Given the description of an element on the screen output the (x, y) to click on. 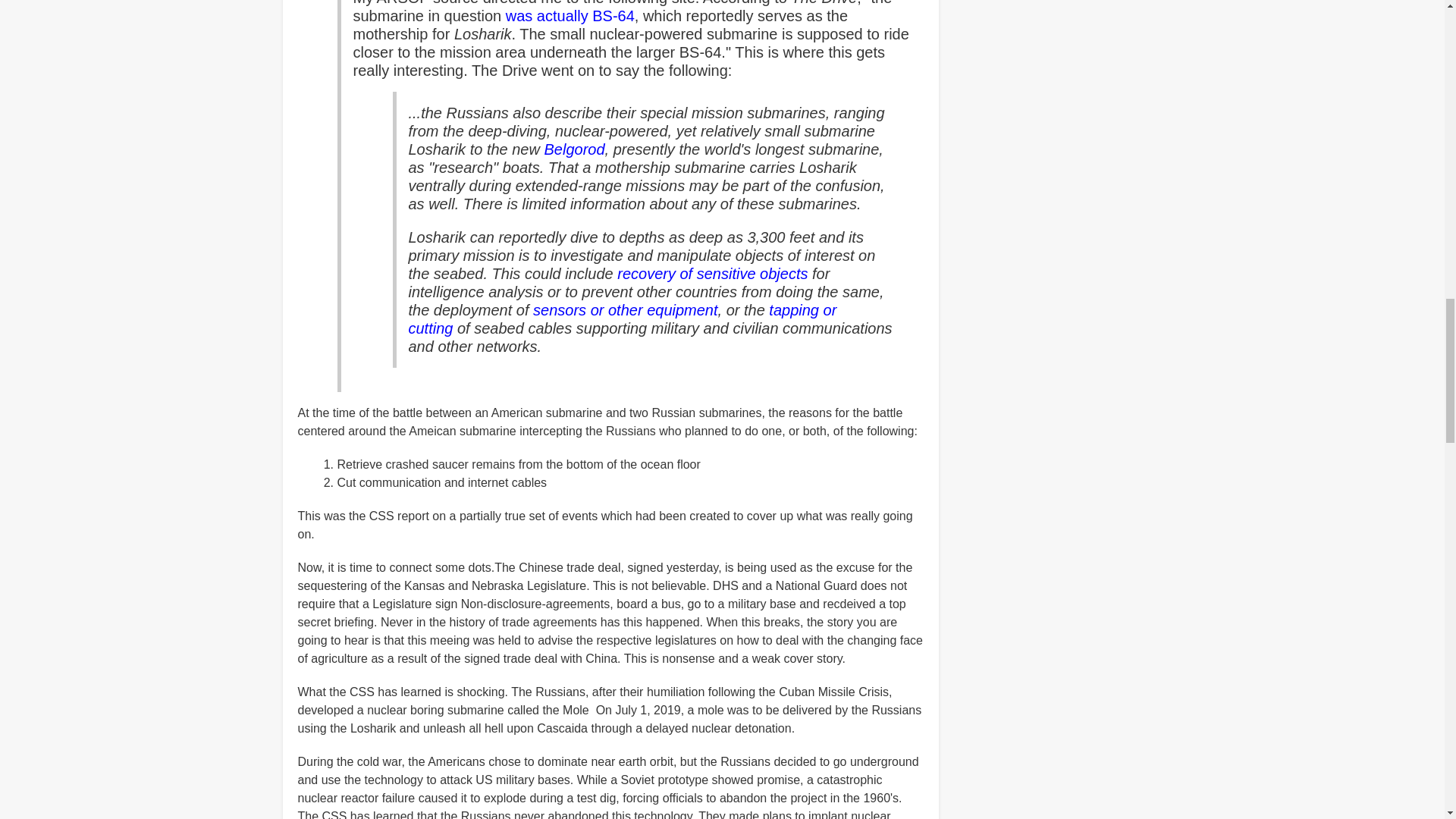
was actually BS-64 (569, 15)
tapping or cutting (621, 319)
Belgorod (574, 149)
sensors or other equipment (624, 310)
recovery of sensitive objects (712, 273)
